Given the description of an element on the screen output the (x, y) to click on. 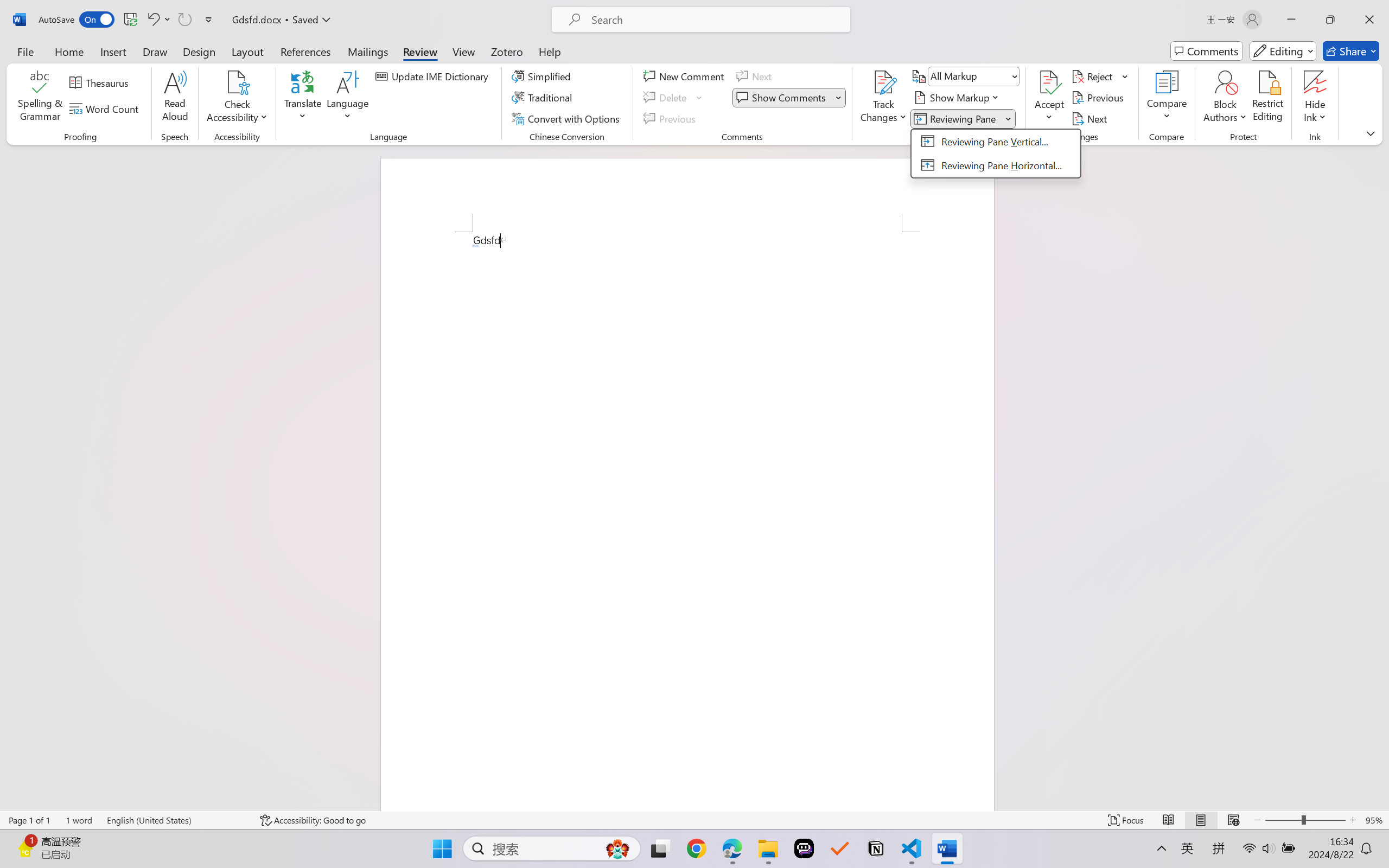
Reject (1100, 75)
Can't Repeat (184, 19)
Reviewing Pane (962, 118)
